Given the description of an element on the screen output the (x, y) to click on. 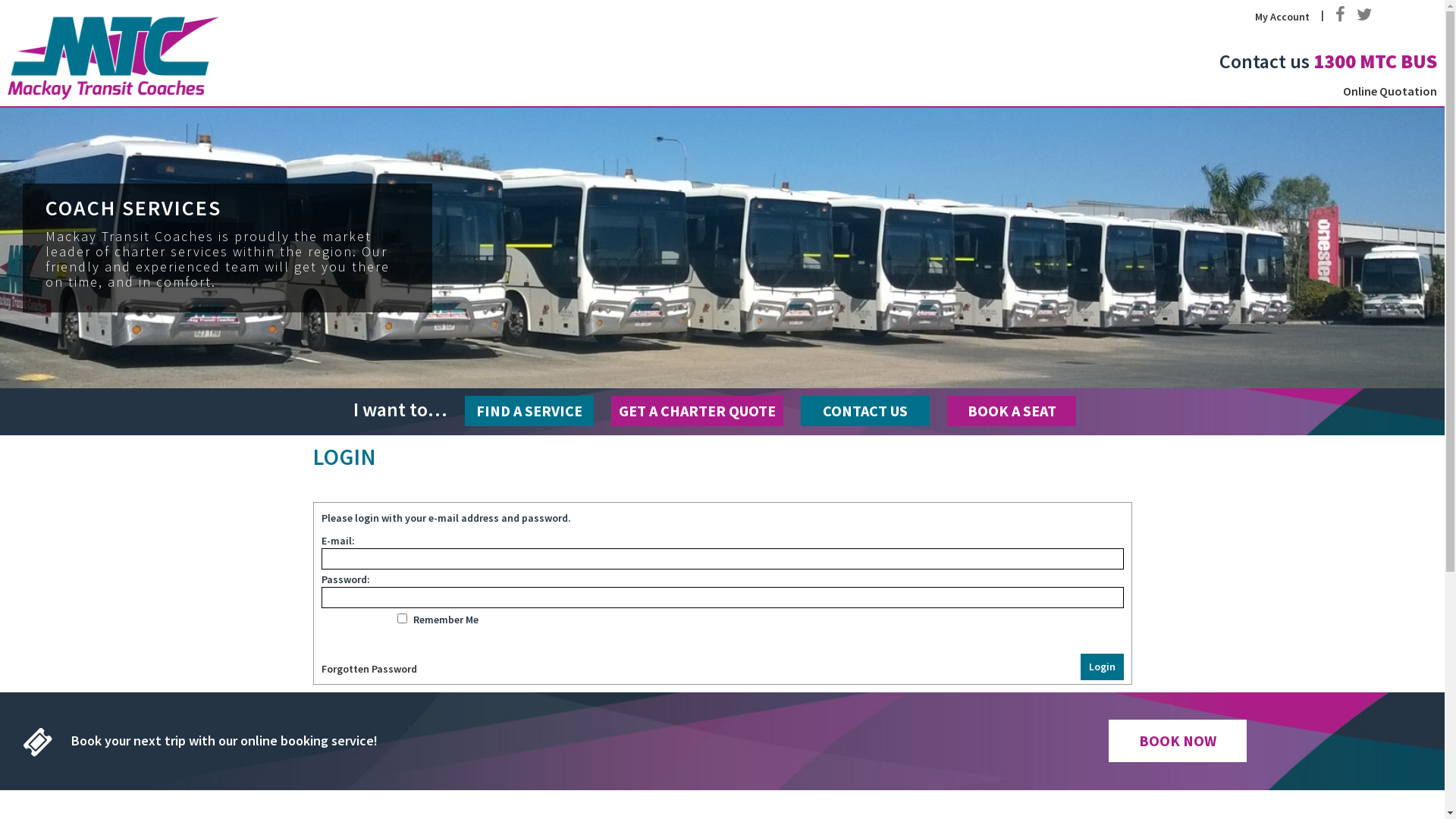
Login Element type: text (1101, 666)
GET A CHARTER QUOTE Element type: text (696, 410)
Online Quotation Element type: text (1386, 90)
FIND A SERVICE Element type: text (529, 410)
My Account Element type: text (1282, 16)
BOOK NOW Element type: text (1177, 740)
Forgotten Password Element type: text (369, 667)
BOOK A SEAT Element type: text (1011, 410)
Mackay Transit Coaches Pty Ltd | Tel: 07 4957 3330 Element type: hover (114, 56)
CONTACT US Element type: text (864, 410)
